Given the description of an element on the screen output the (x, y) to click on. 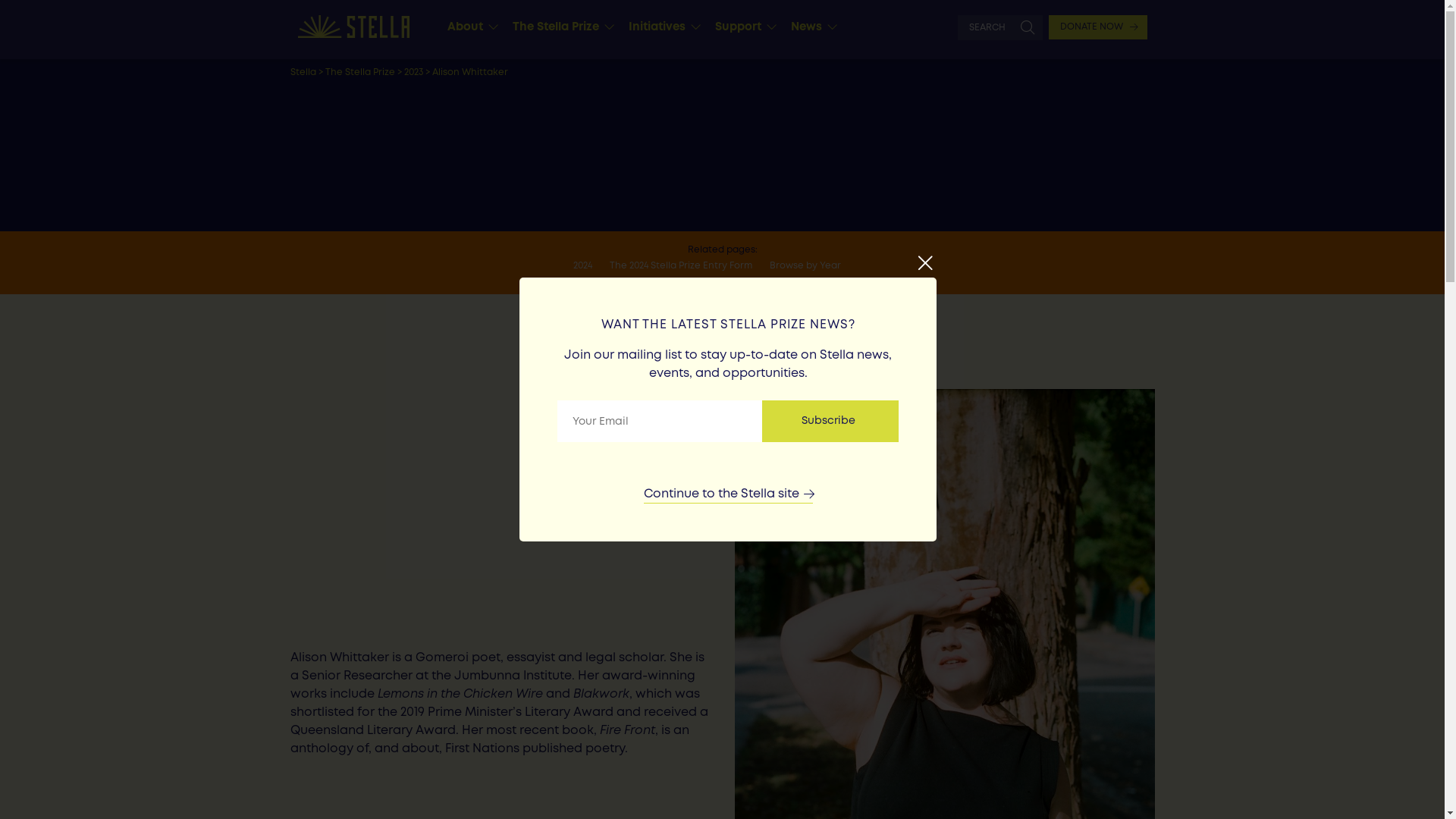
Browse by Year Element type: text (812, 265)
News Element type: text (809, 27)
2024 Element type: text (590, 265)
2023 Element type: text (412, 71)
The Stella Prize Element type: text (558, 27)
About Element type: text (468, 27)
Support Element type: text (741, 27)
The Stella Prize Element type: text (359, 71)
Initiatives Element type: text (660, 27)
Stella Element type: text (302, 71)
Subscribe Element type: text (830, 421)
The 2024 Stella Prize Entry Form Element type: text (688, 265)
DONATE NOW Element type: text (1097, 27)
